Given the description of an element on the screen output the (x, y) to click on. 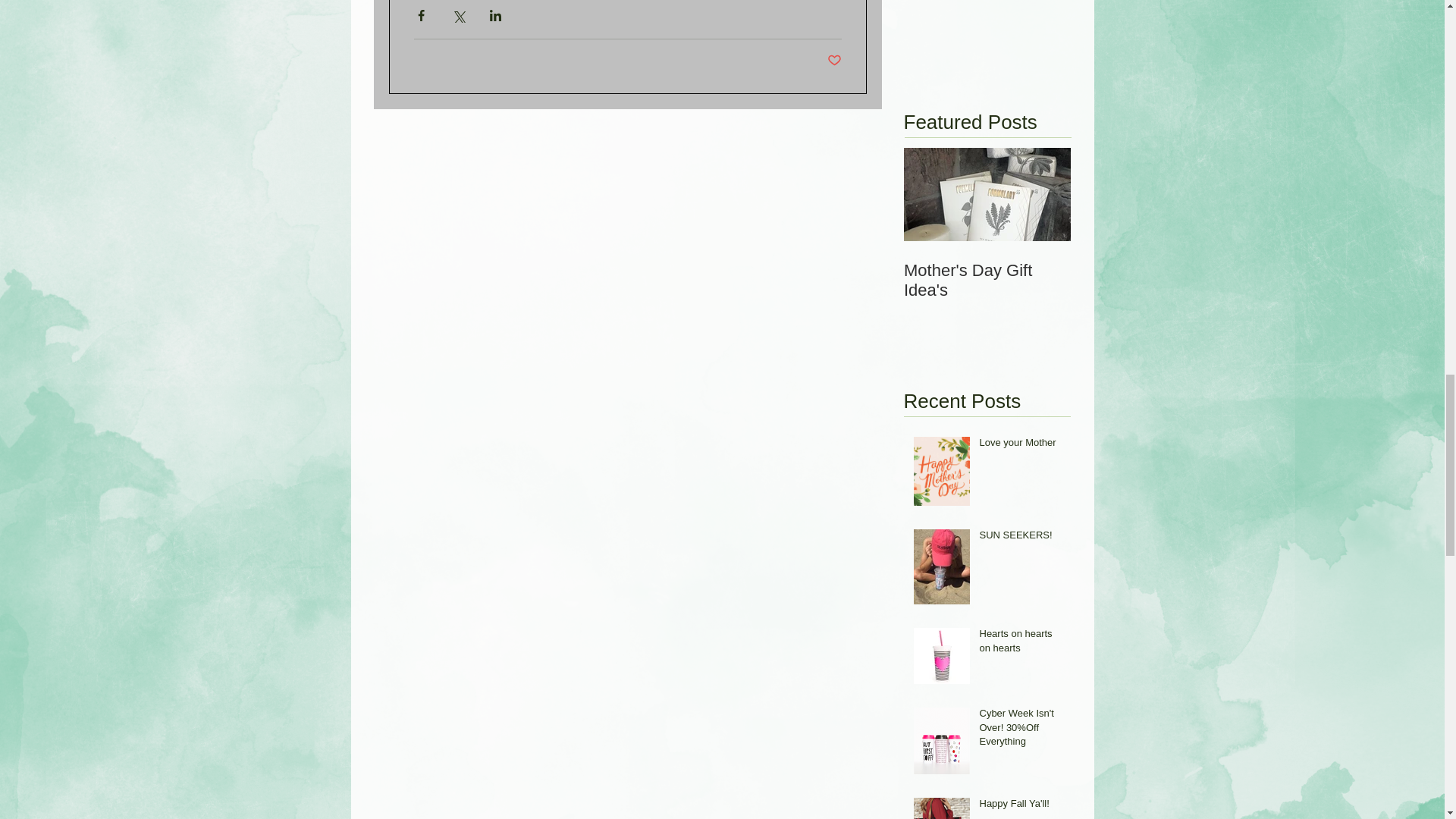
Mother's Day Gift Idea's (987, 280)
Love your Mother (1020, 445)
Hearts on hearts on hearts (1020, 643)
SUN SEEKERS! (1020, 537)
Post not marked as liked (834, 60)
Happy Fall Ya'll! (1020, 806)
